Given the description of an element on the screen output the (x, y) to click on. 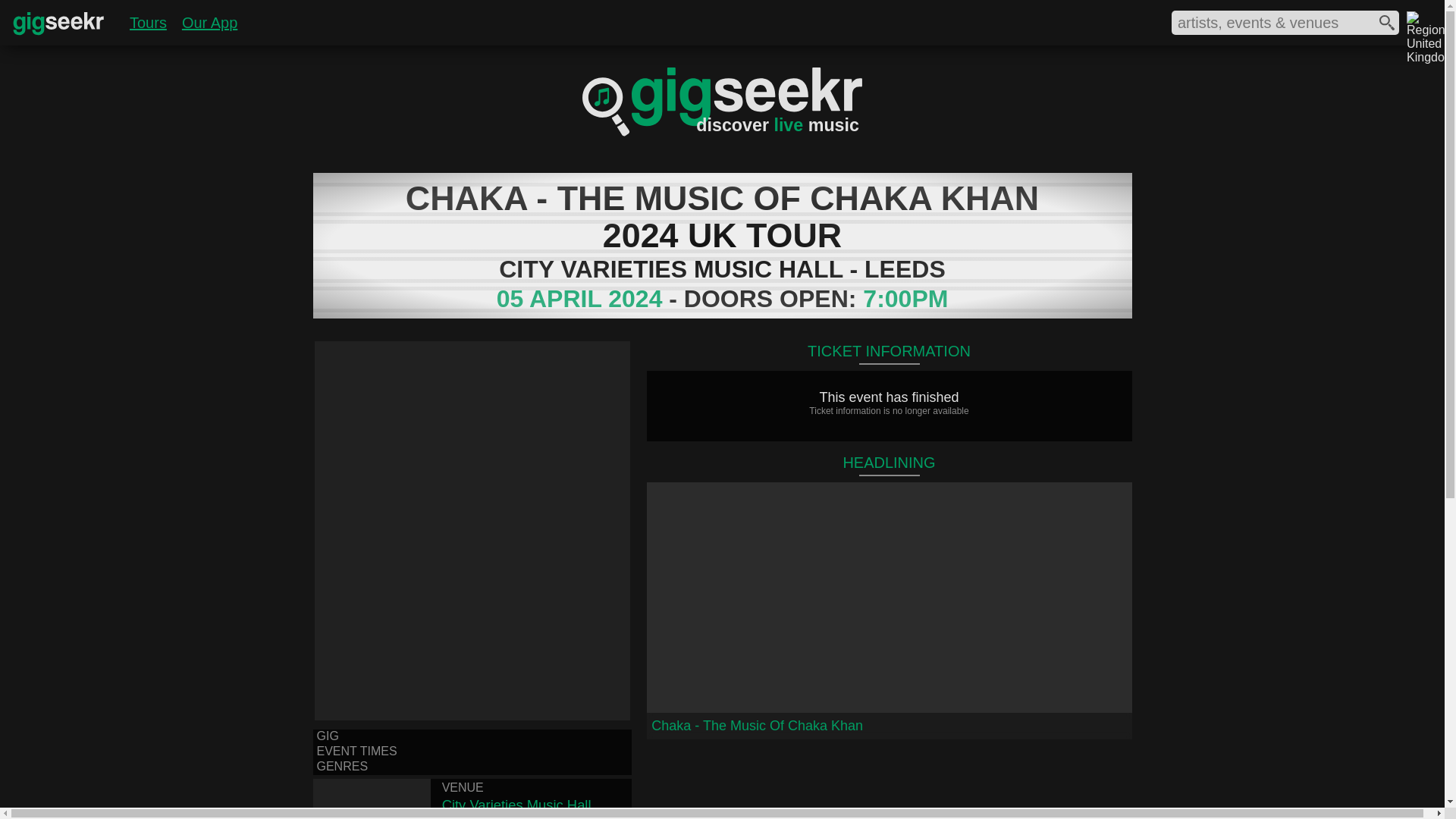
Our App (209, 21)
Chaka - The Music Of Chaka Khan (888, 610)
Tours (148, 21)
Gigseekr Logo (58, 25)
discover live music (721, 132)
Gigseekr Logo (58, 34)
